Given the description of an element on the screen output the (x, y) to click on. 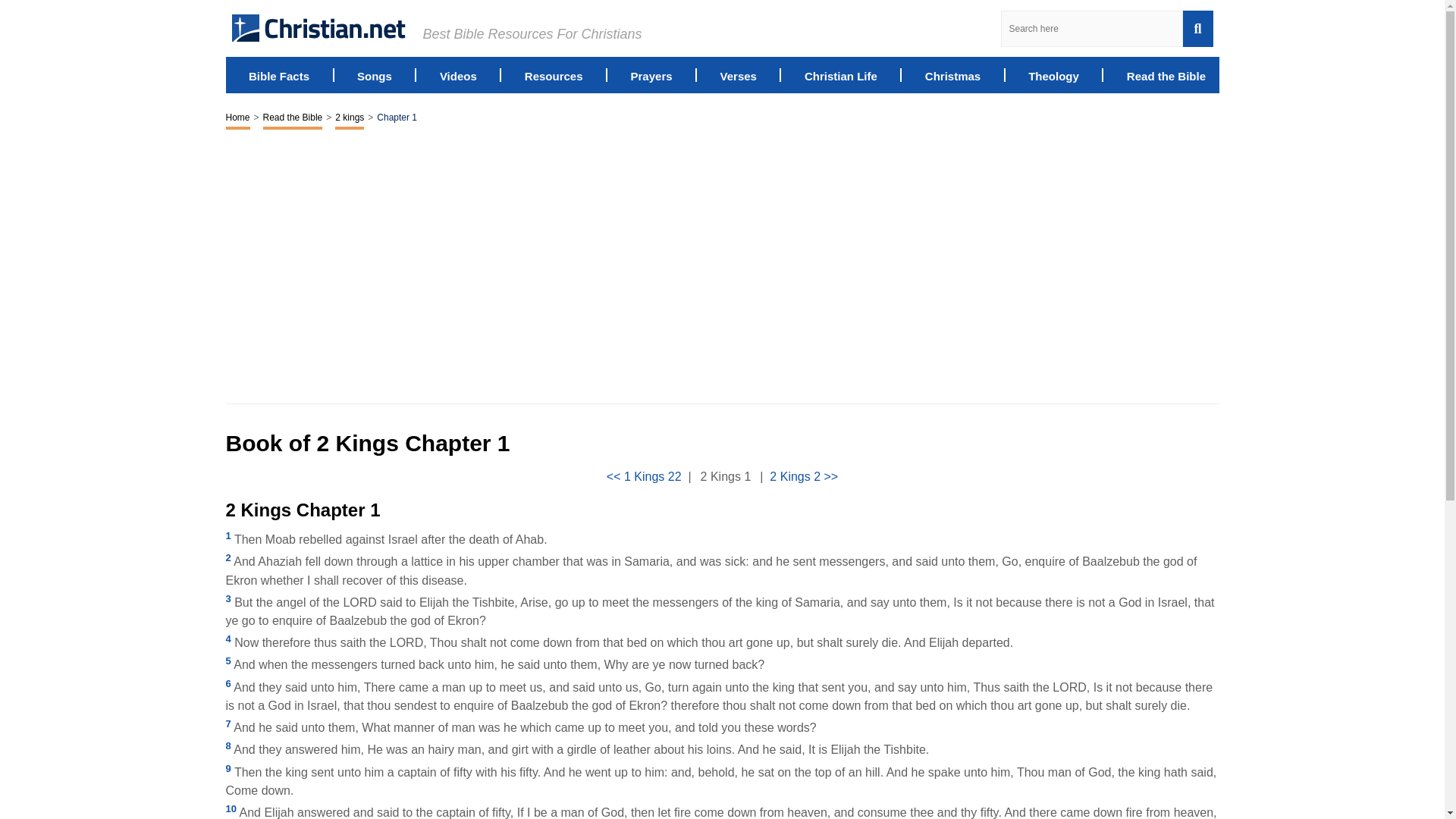
Videos (458, 74)
Prayers (651, 74)
Home (237, 118)
Resources (553, 74)
2 kings (349, 118)
Christmas (951, 74)
Read the Bible (293, 118)
Songs (373, 74)
Read the Bible (1165, 74)
2 Kings Chapter 2 (804, 476)
